Given the description of an element on the screen output the (x, y) to click on. 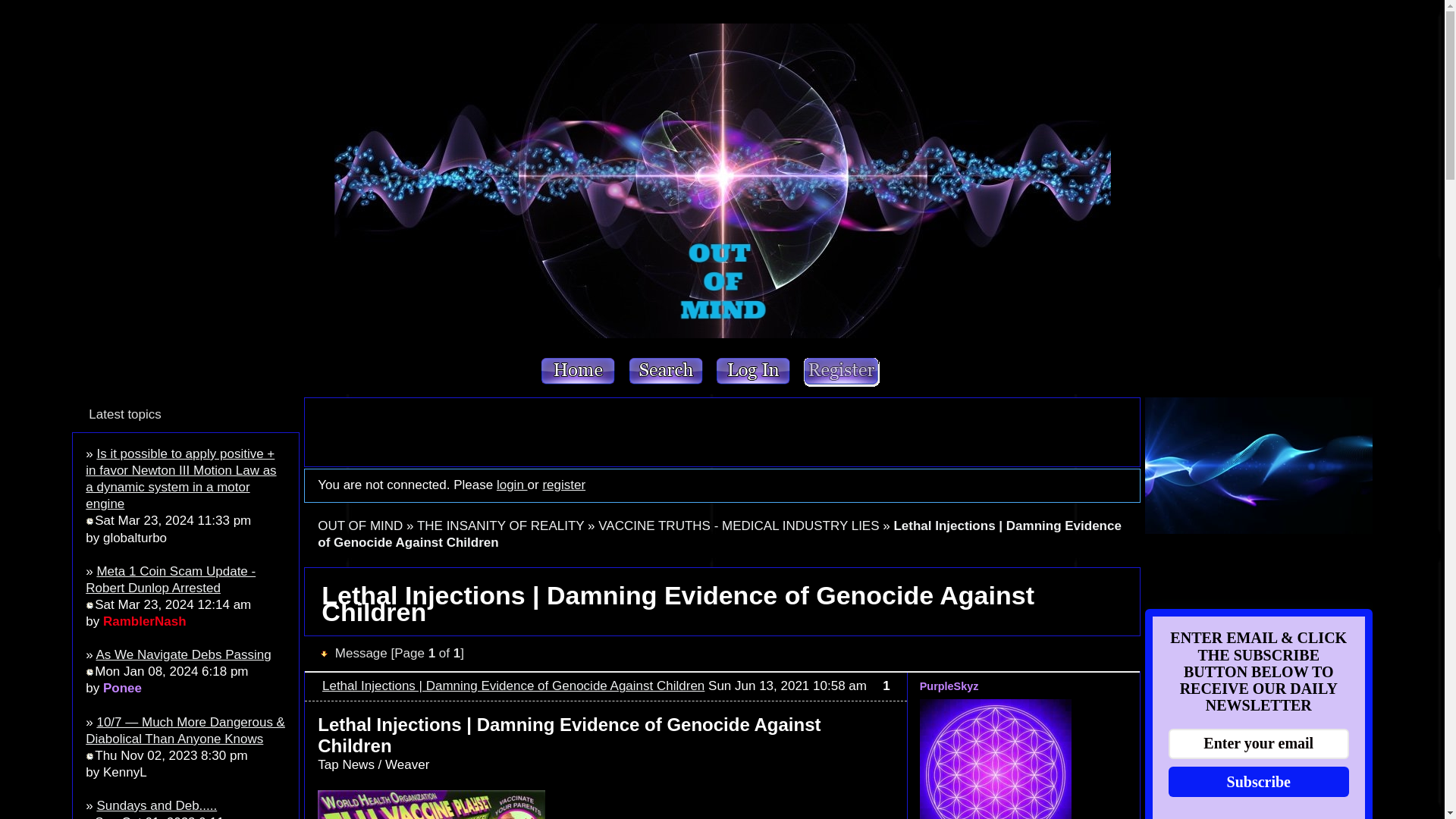
Sundays and Deb..... (156, 805)
As We Navigate Debs Passing (183, 654)
Meta 1 Coin Scam Update - Robert Dunlop Arrested (170, 579)
Meta 1 Coin Scam Update - Robert Dunlop Arrested (170, 579)
Sundays and Deb..... (156, 805)
As We Navigate Debs Passing (183, 654)
Log in (754, 371)
OUT OF MIND (360, 525)
VACCINE TRUTHS - MEDICAL INDUSTRY LIES (738, 525)
Register (841, 371)
THE INSANITY OF REALITY (499, 525)
login (511, 484)
Search (666, 371)
Home (577, 371)
